Given the description of an element on the screen output the (x, y) to click on. 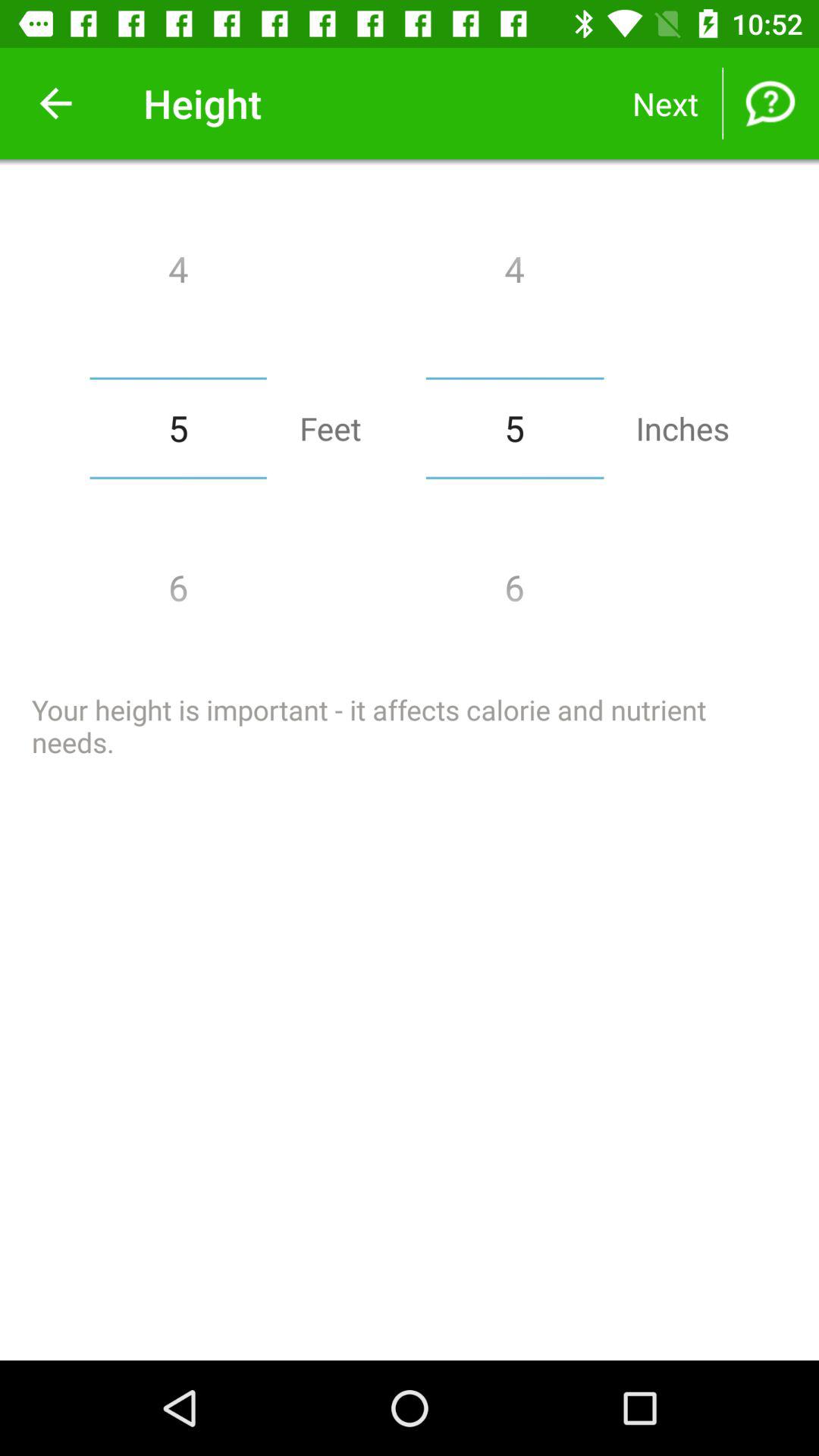
turn off icon next to the height (55, 103)
